Given the description of an element on the screen output the (x, y) to click on. 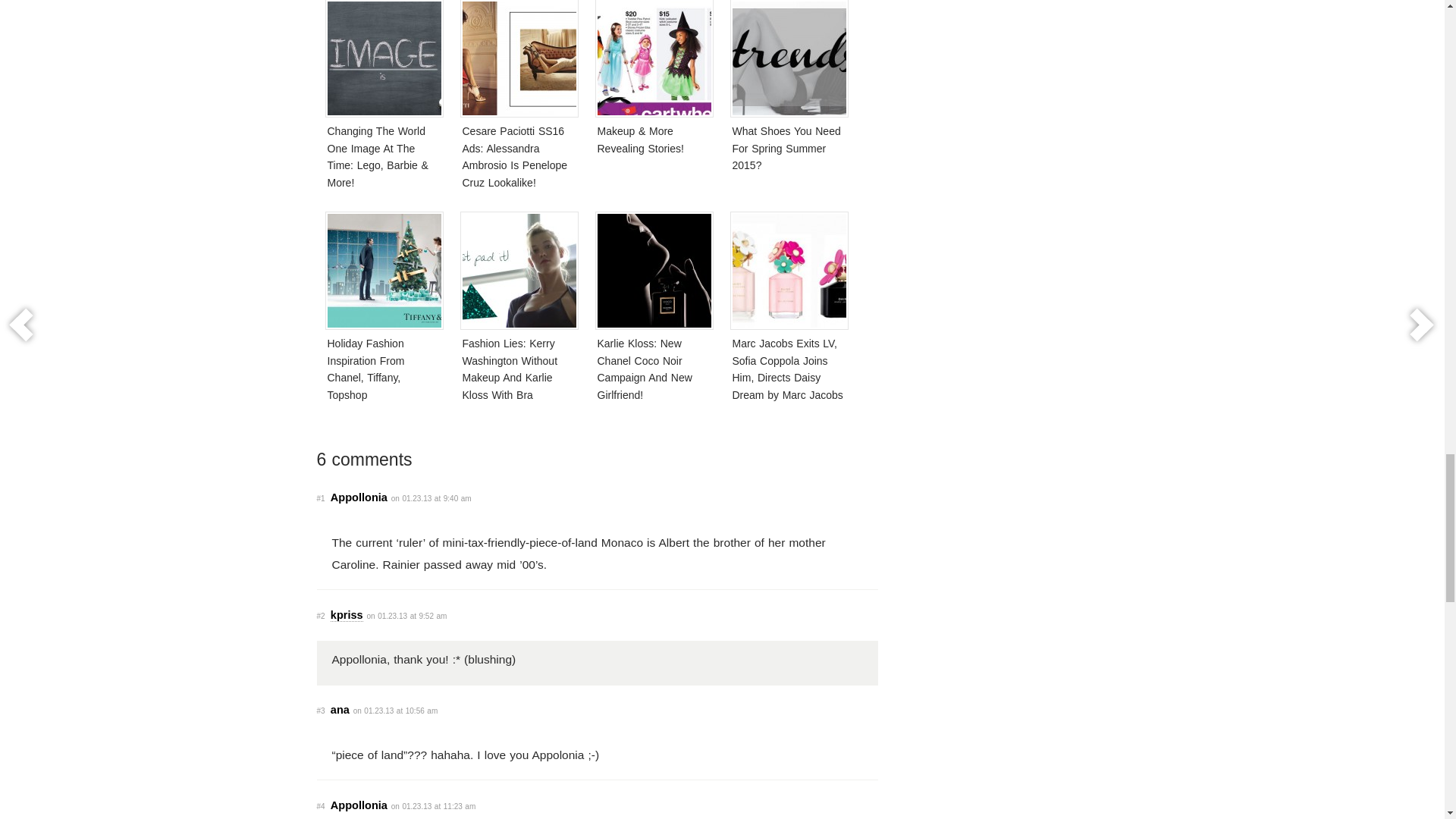
Permalink to this comment (320, 806)
kpriss (346, 615)
Permalink to this comment (320, 498)
Permalink to this comment (320, 615)
Permalink to this comment (320, 710)
